Given the description of an element on the screen output the (x, y) to click on. 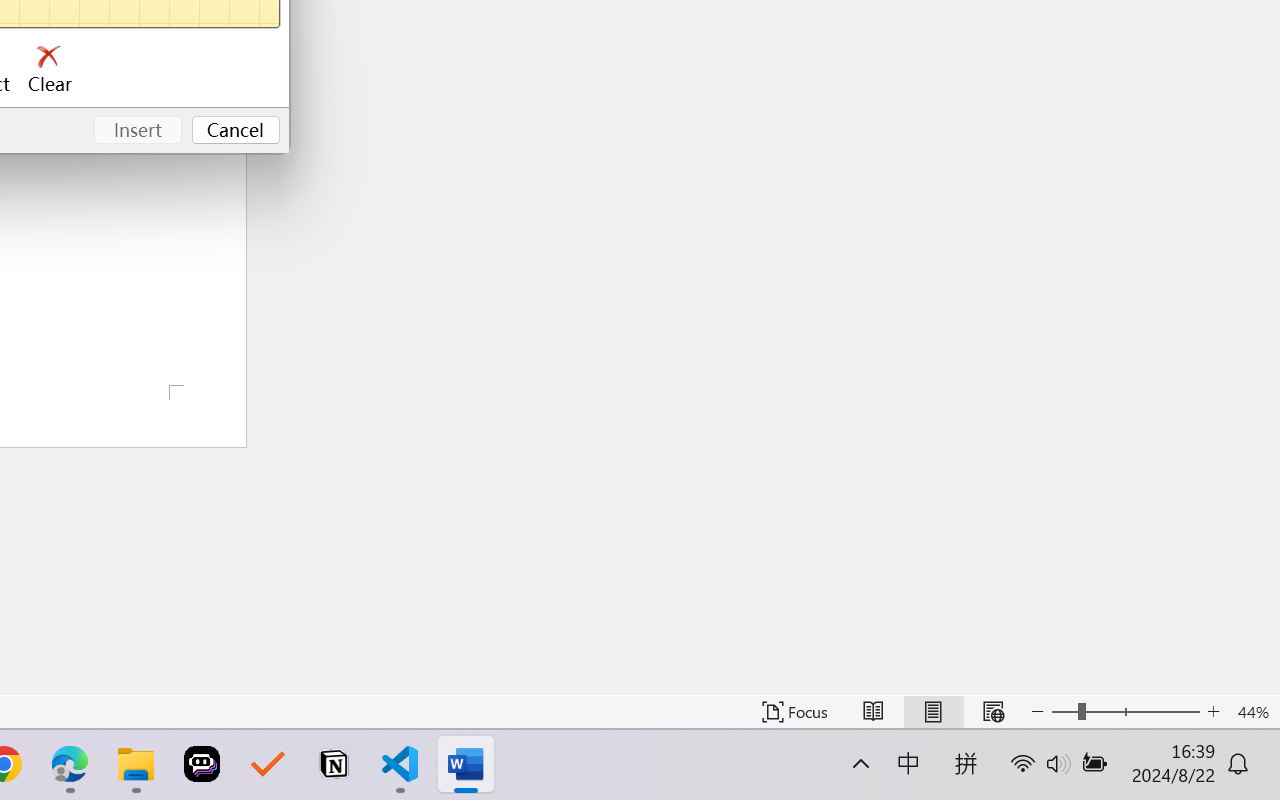
Notion (333, 764)
Clear (49, 69)
